Given the description of an element on the screen output the (x, y) to click on. 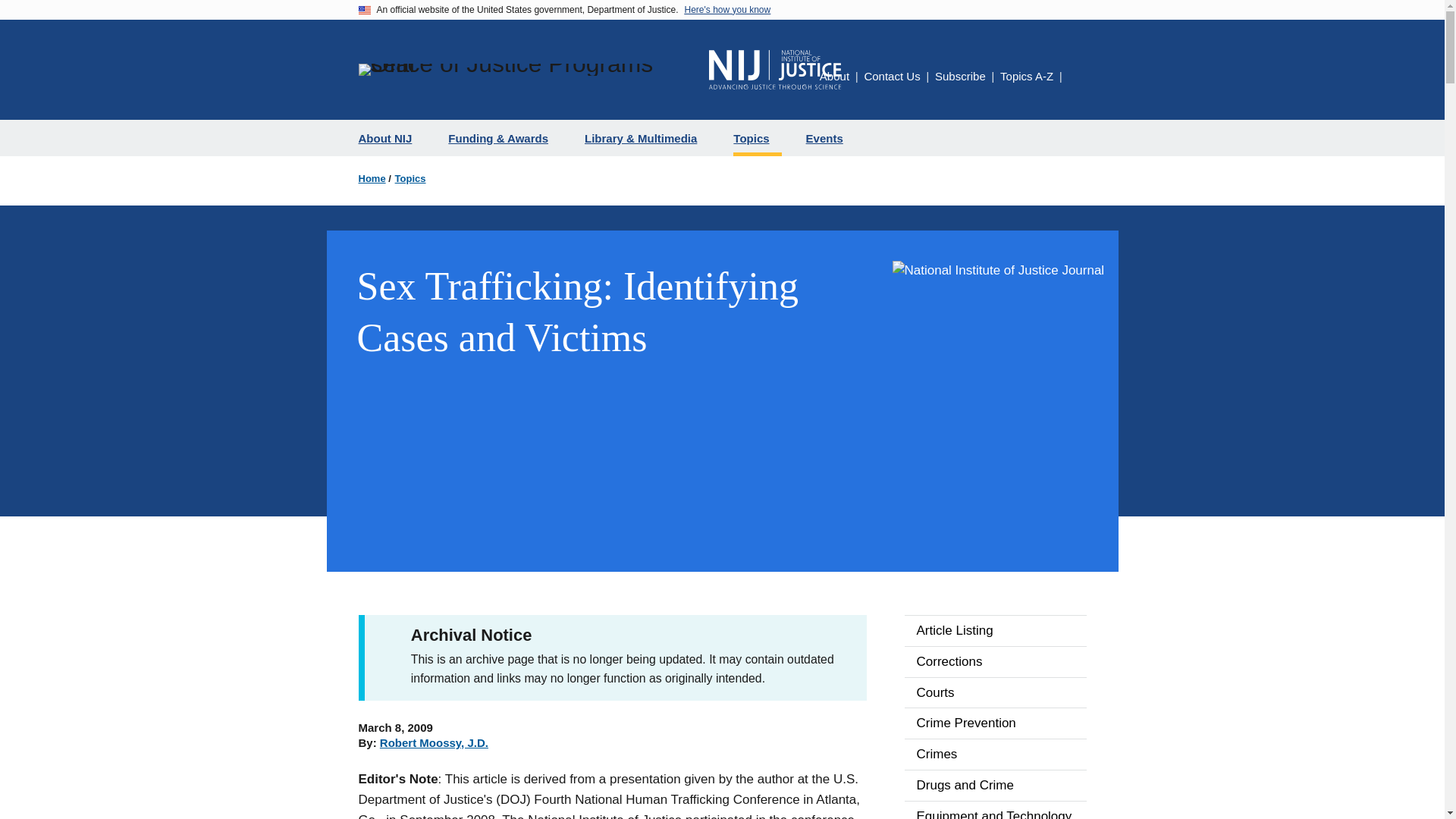
Events (830, 138)
About (833, 76)
Contact Us (891, 76)
Home (371, 178)
Share (1076, 78)
About NIJ (390, 138)
Topics A-Z (1026, 76)
Subscribe (959, 76)
Topics (410, 178)
Home (775, 69)
